Given the description of an element on the screen output the (x, y) to click on. 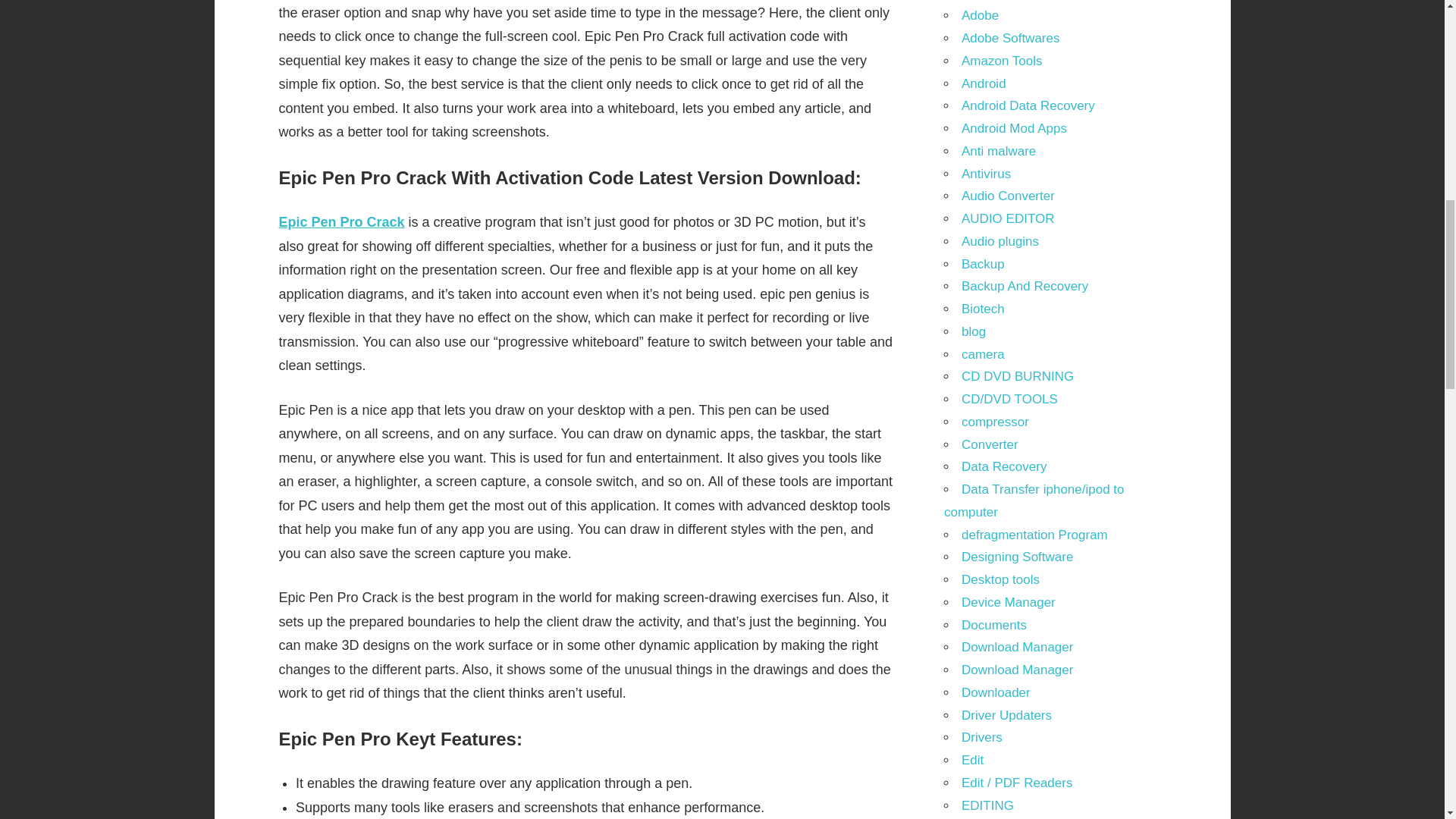
Epic Pen Pro Crack (341, 222)
